Given the description of an element on the screen output the (x, y) to click on. 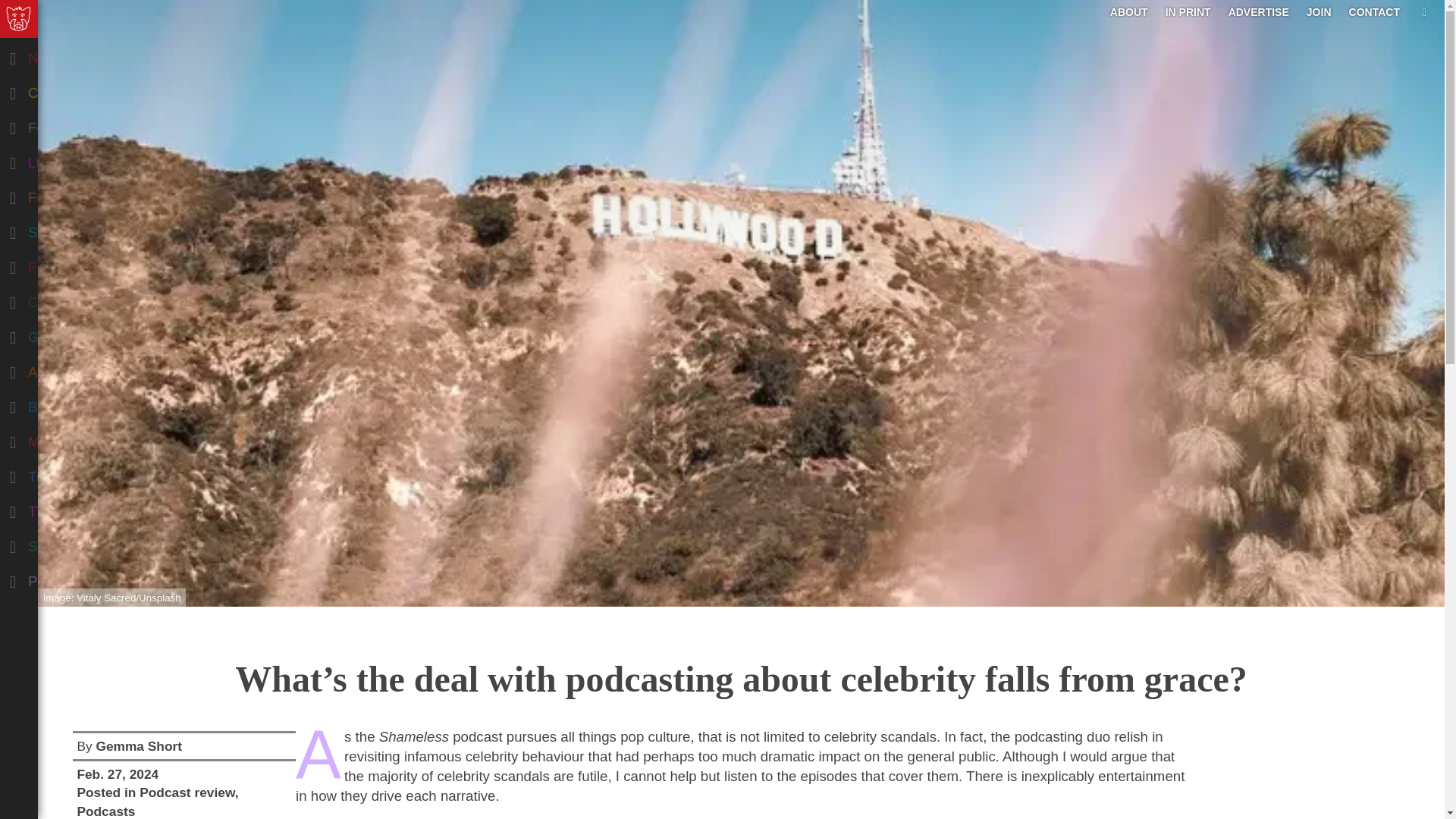
Podcasts (106, 811)
Finance (79, 194)
Music (79, 438)
Travel (79, 473)
Lifestyle (79, 159)
Books (79, 403)
News (79, 54)
Games (79, 334)
Sport (79, 543)
Podcast review (186, 792)
